Given the description of an element on the screen output the (x, y) to click on. 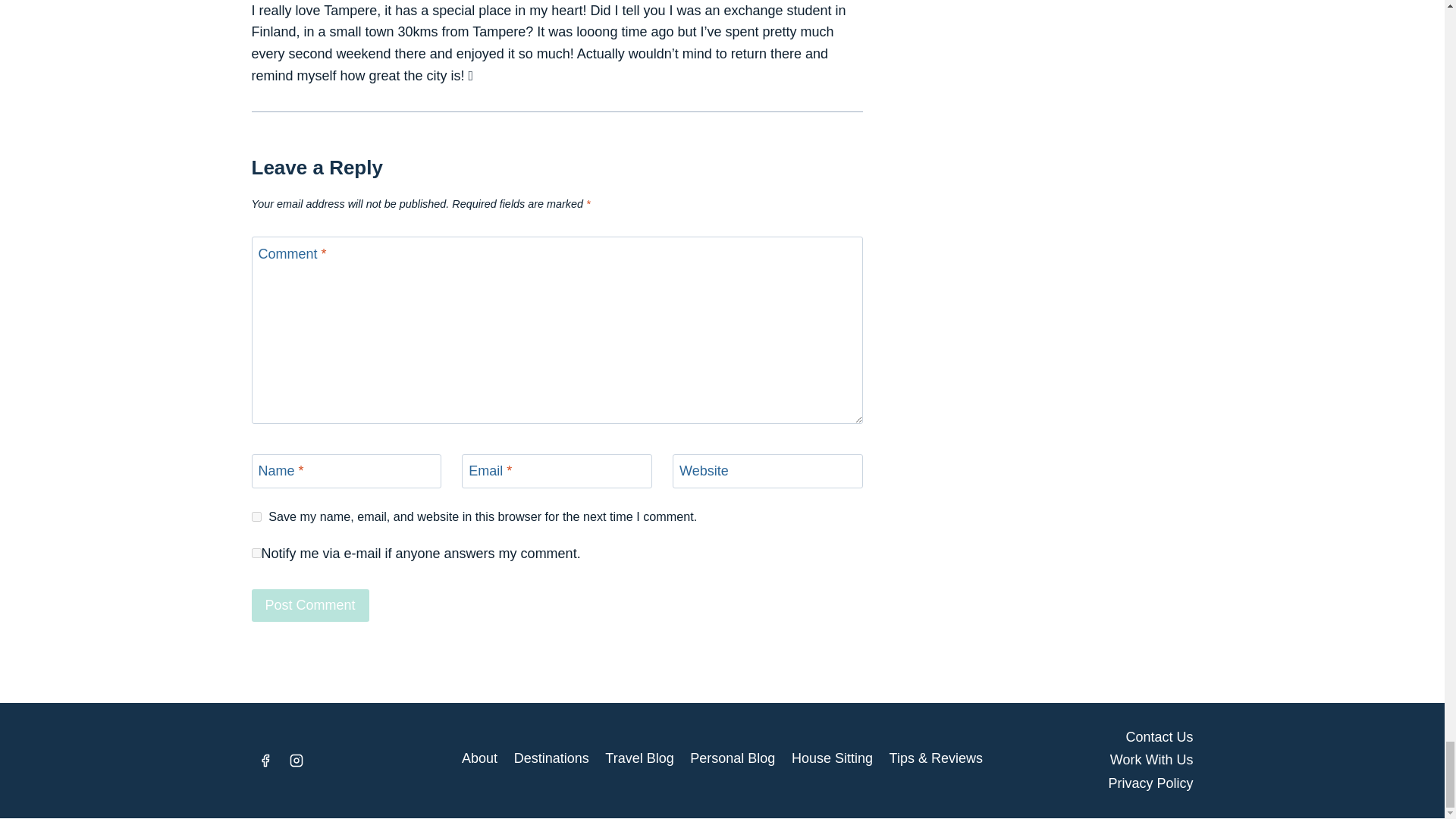
Post Comment (310, 604)
yes (256, 516)
on (256, 552)
